Given the description of an element on the screen output the (x, y) to click on. 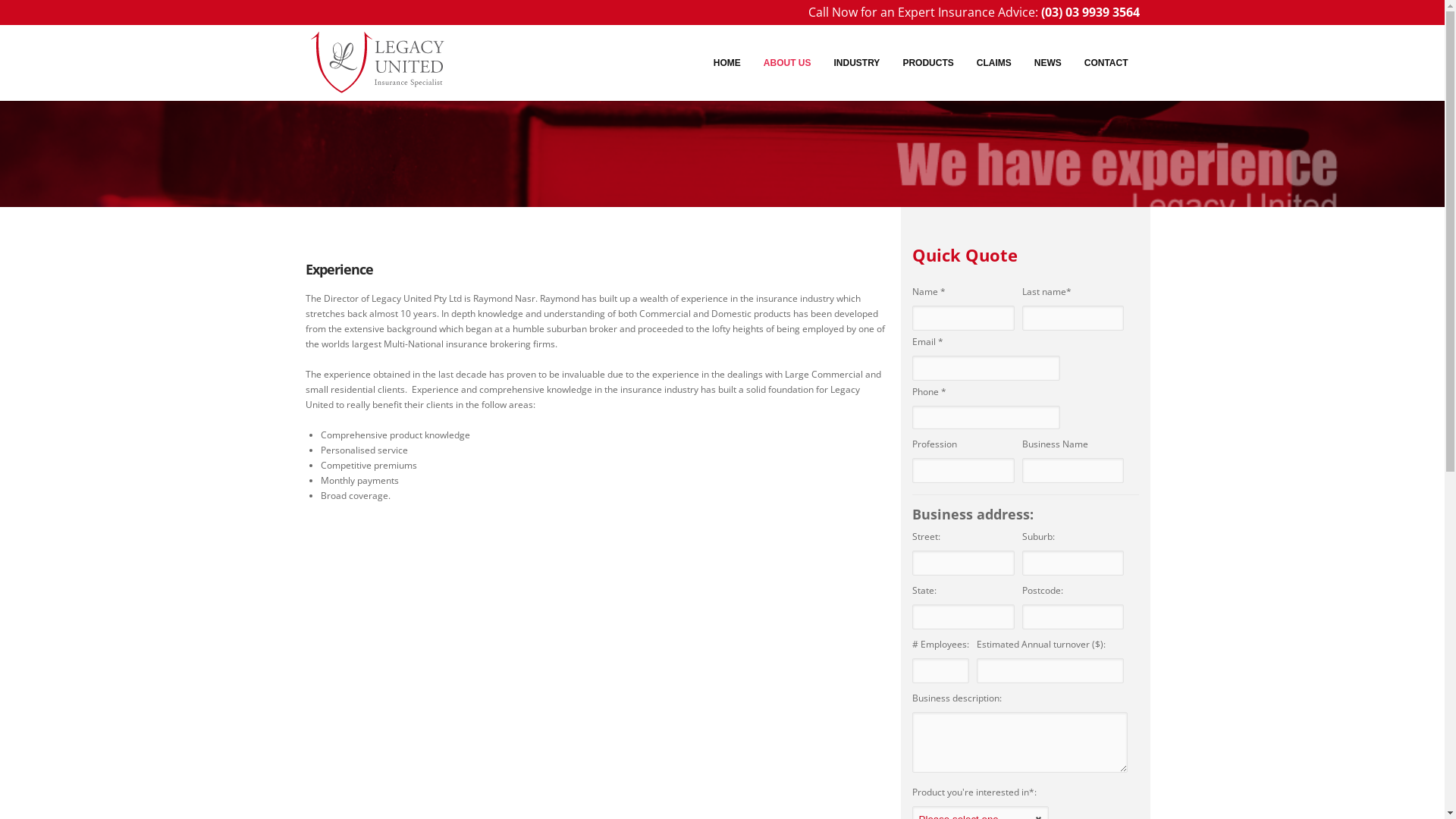
ABOUT US Element type: text (787, 63)
Experience Element type: text (338, 269)
PRODUCTS Element type: text (927, 63)
NEWS Element type: text (1047, 63)
CLAIMS Element type: text (993, 63)
CONTACT Element type: text (1106, 63)
INDUSTRY Element type: text (856, 63)
HOME Element type: text (727, 63)
